Given the description of an element on the screen output the (x, y) to click on. 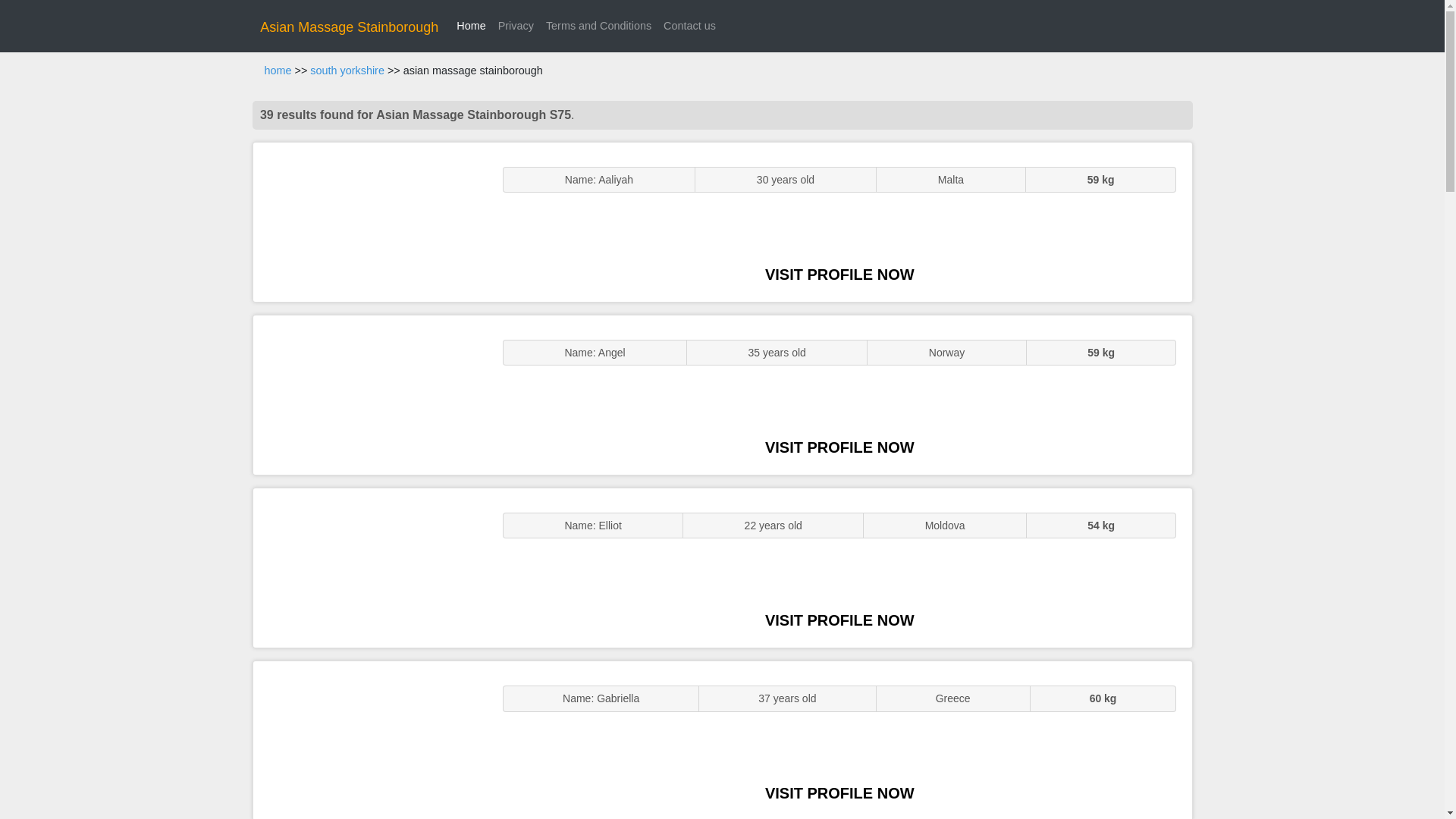
home (277, 70)
Sluts (370, 739)
Terms and Conditions (599, 25)
Asian Massage Stainborough (349, 27)
Sexy (370, 567)
VISIT PROFILE NOW (839, 619)
VISIT PROFILE NOW (839, 446)
south yorkshire (347, 70)
GFE (370, 395)
 ENGLISH STUNNER (370, 222)
